Given the description of an element on the screen output the (x, y) to click on. 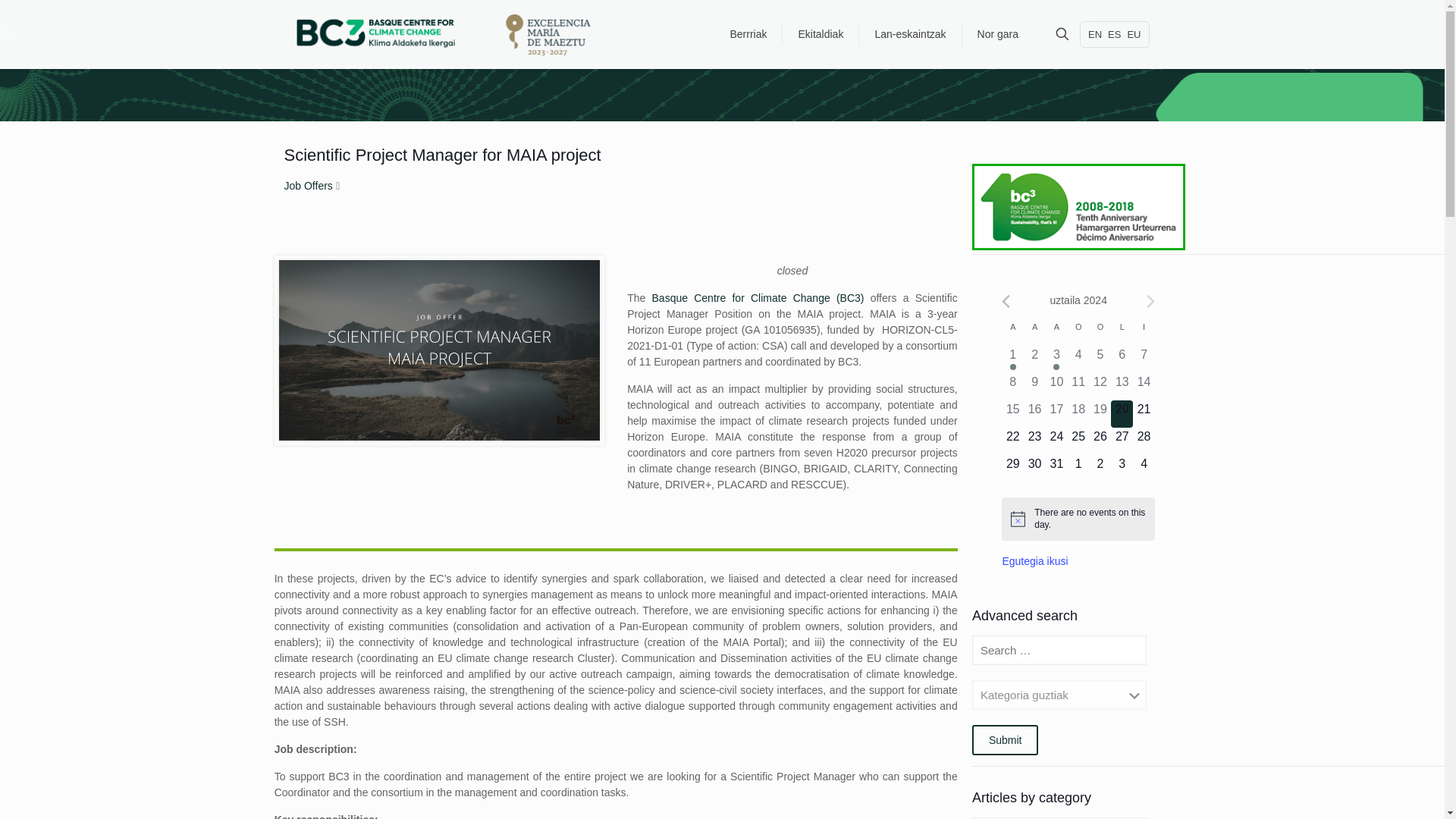
Berrriak (748, 33)
Has ekitaldiak (1055, 366)
Lan-eskaintzak (909, 33)
EU (1133, 34)
ES (1114, 34)
job offer ext (439, 350)
Nor gara (997, 33)
Submit (1005, 739)
Has ekitaldiak (1013, 366)
EN (1094, 34)
Ekitaldiak (821, 33)
